Given the description of an element on the screen output the (x, y) to click on. 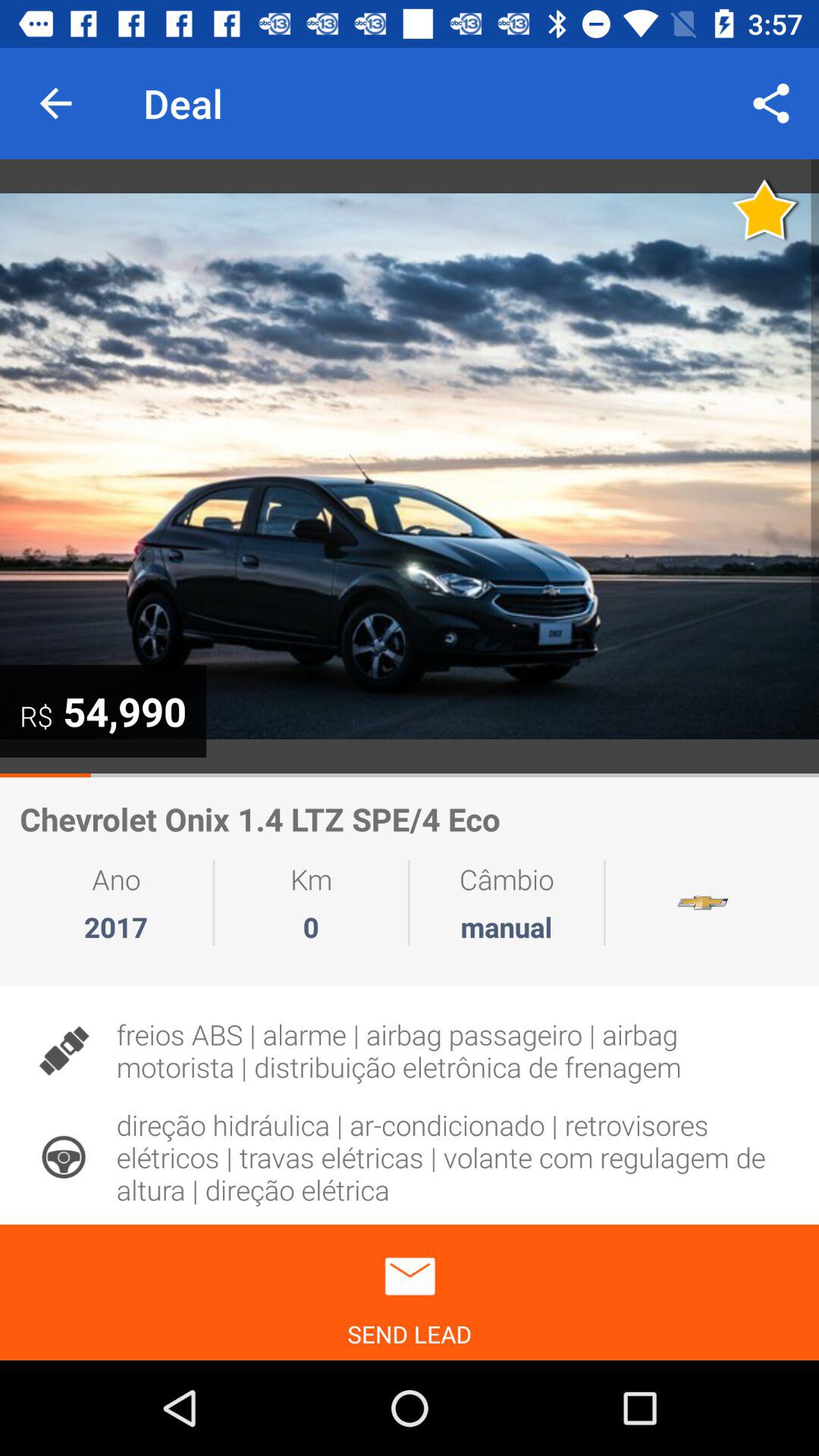
toggle favourite option (765, 209)
